Given the description of an element on the screen output the (x, y) to click on. 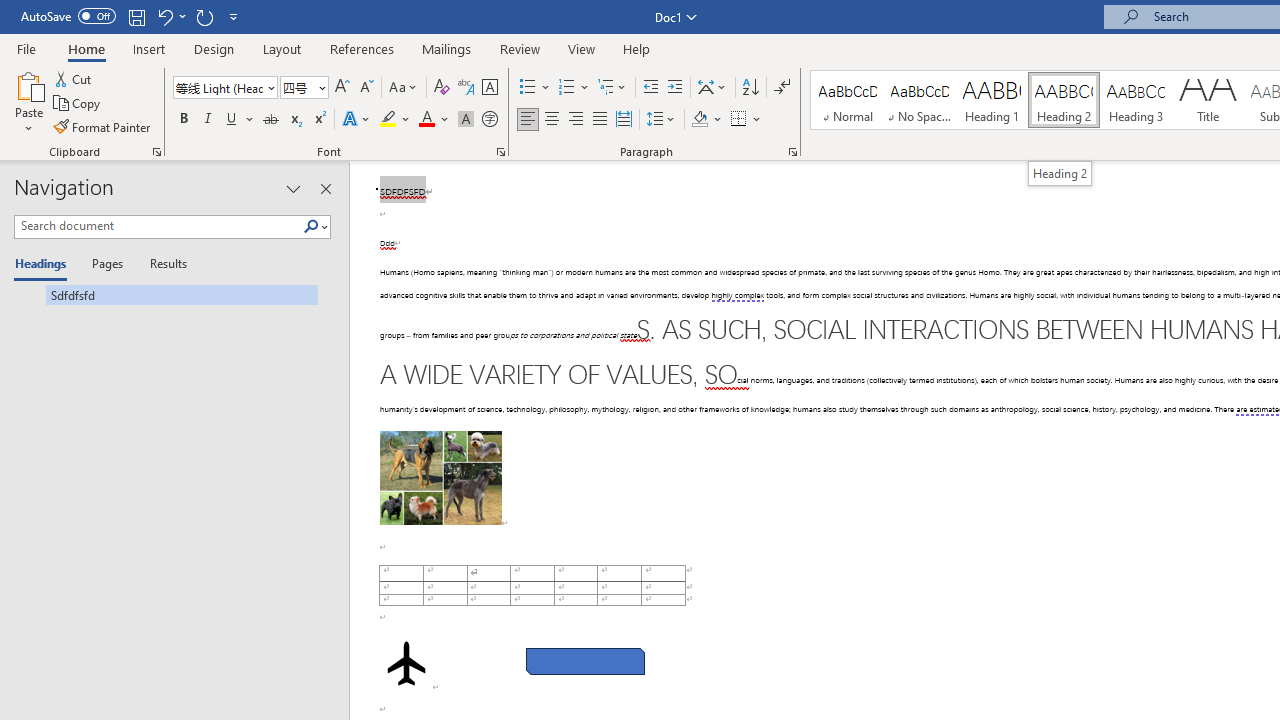
Increase Indent (675, 87)
Distributed (623, 119)
Shading (706, 119)
Headings (45, 264)
Heading 2 (1063, 100)
Heading 1 (991, 100)
